Given the description of an element on the screen output the (x, y) to click on. 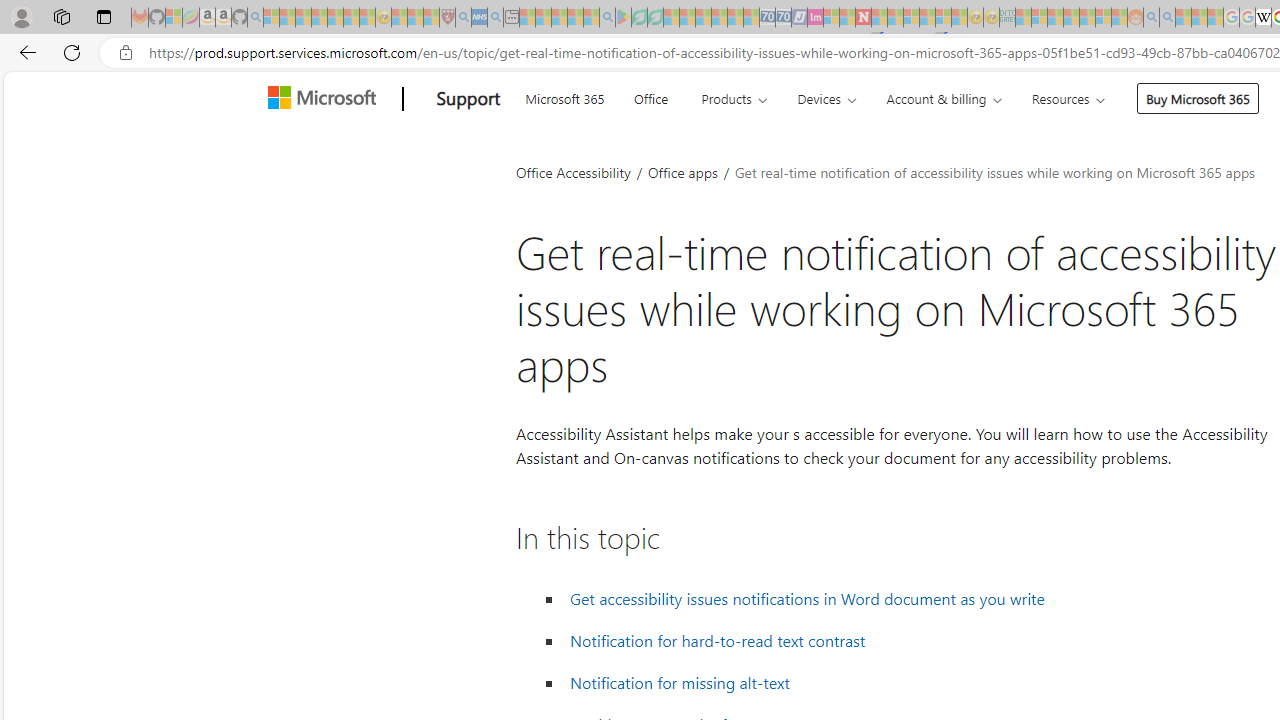
Microsoft (326, 99)
DITOGAMES AG Imprint - Sleeping (1007, 17)
Pets - MSN - Sleeping (575, 17)
Kinda Frugal - MSN - Sleeping (1087, 17)
